Given the description of an element on the screen output the (x, y) to click on. 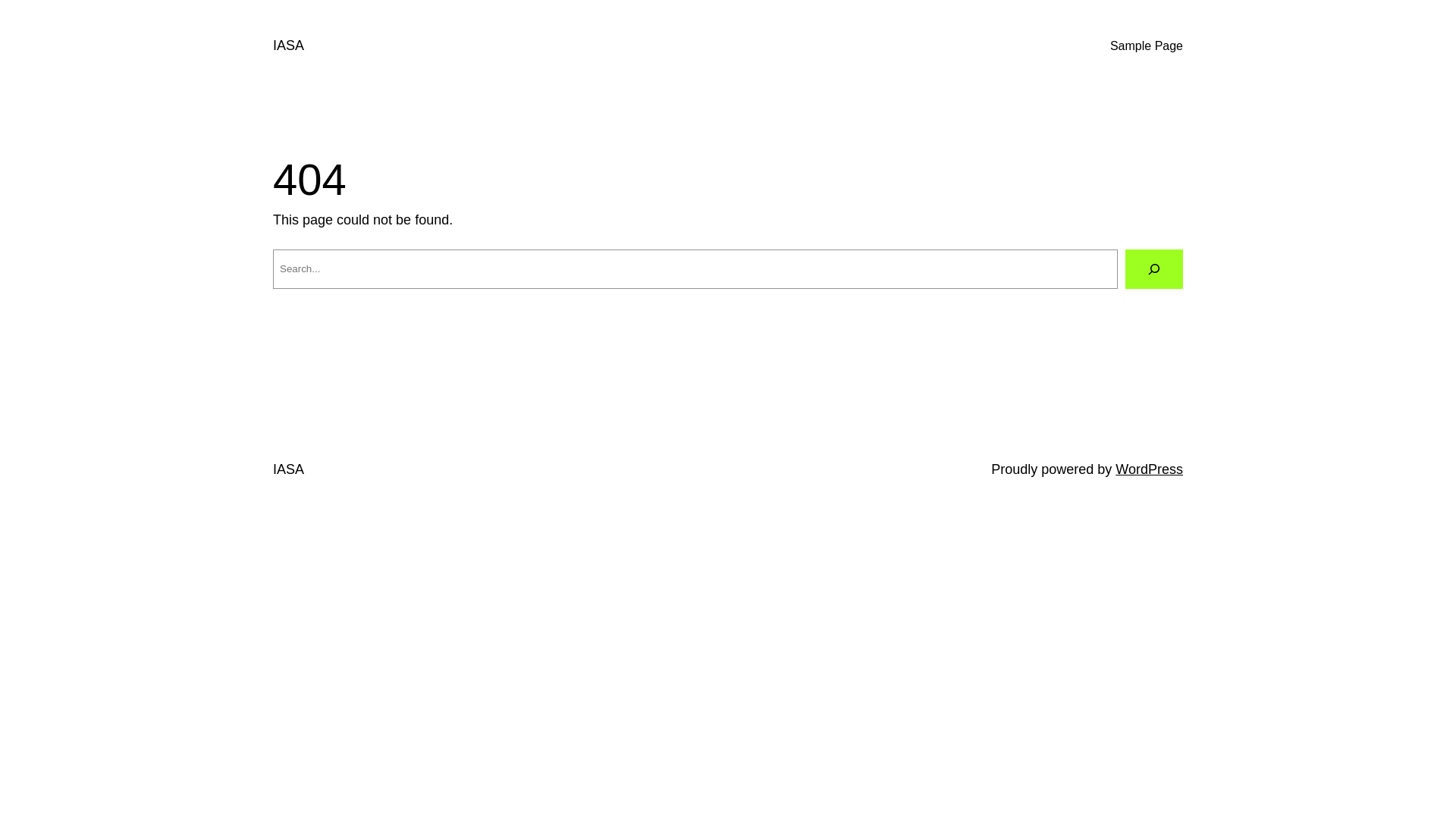
WordPress Element type: text (1149, 468)
IASA Element type: text (288, 468)
Sample Page Element type: text (1146, 46)
IASA Element type: text (288, 45)
